Given the description of an element on the screen output the (x, y) to click on. 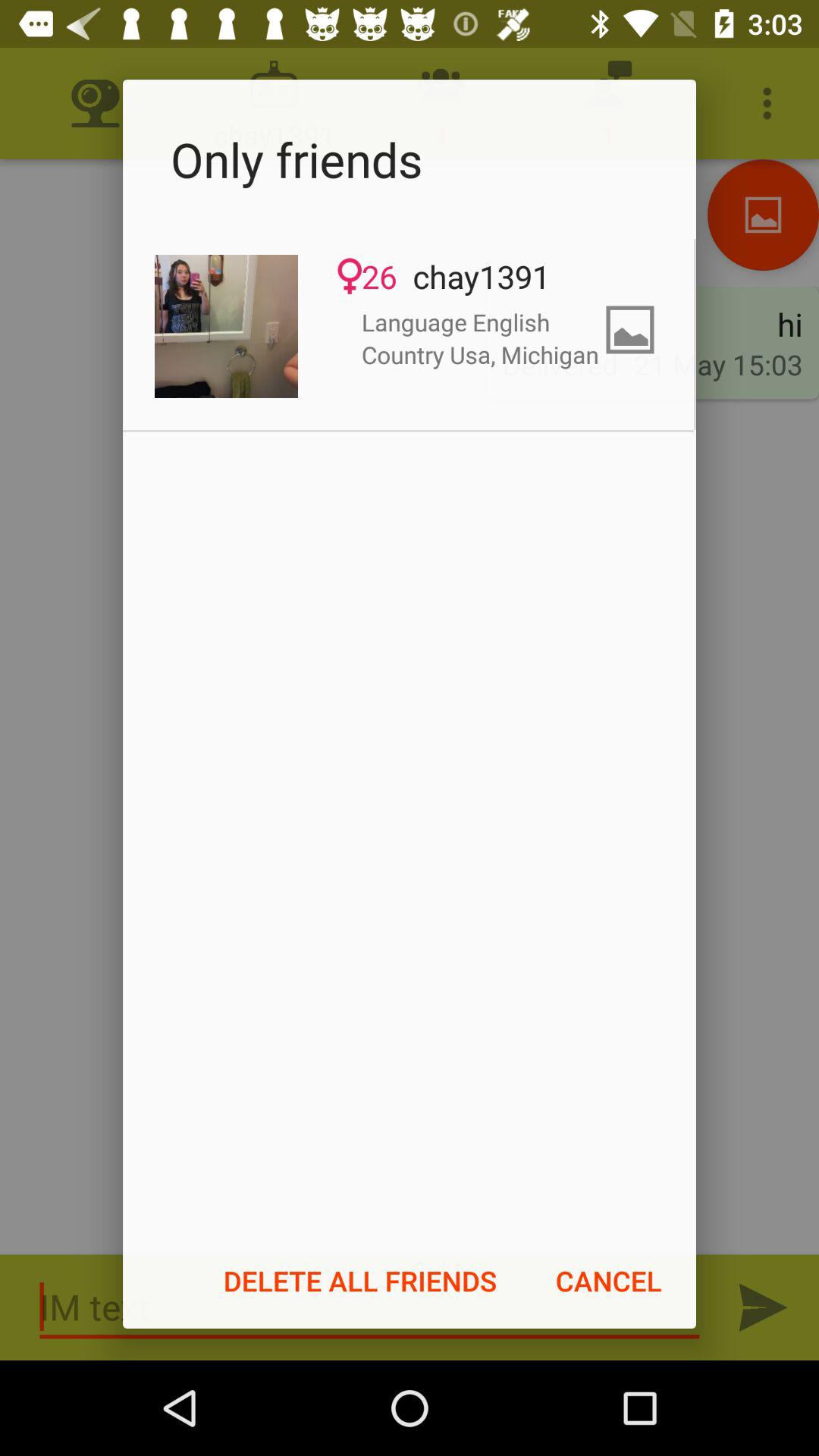
tap the delete all friends icon (359, 1280)
